Given the description of an element on the screen output the (x, y) to click on. 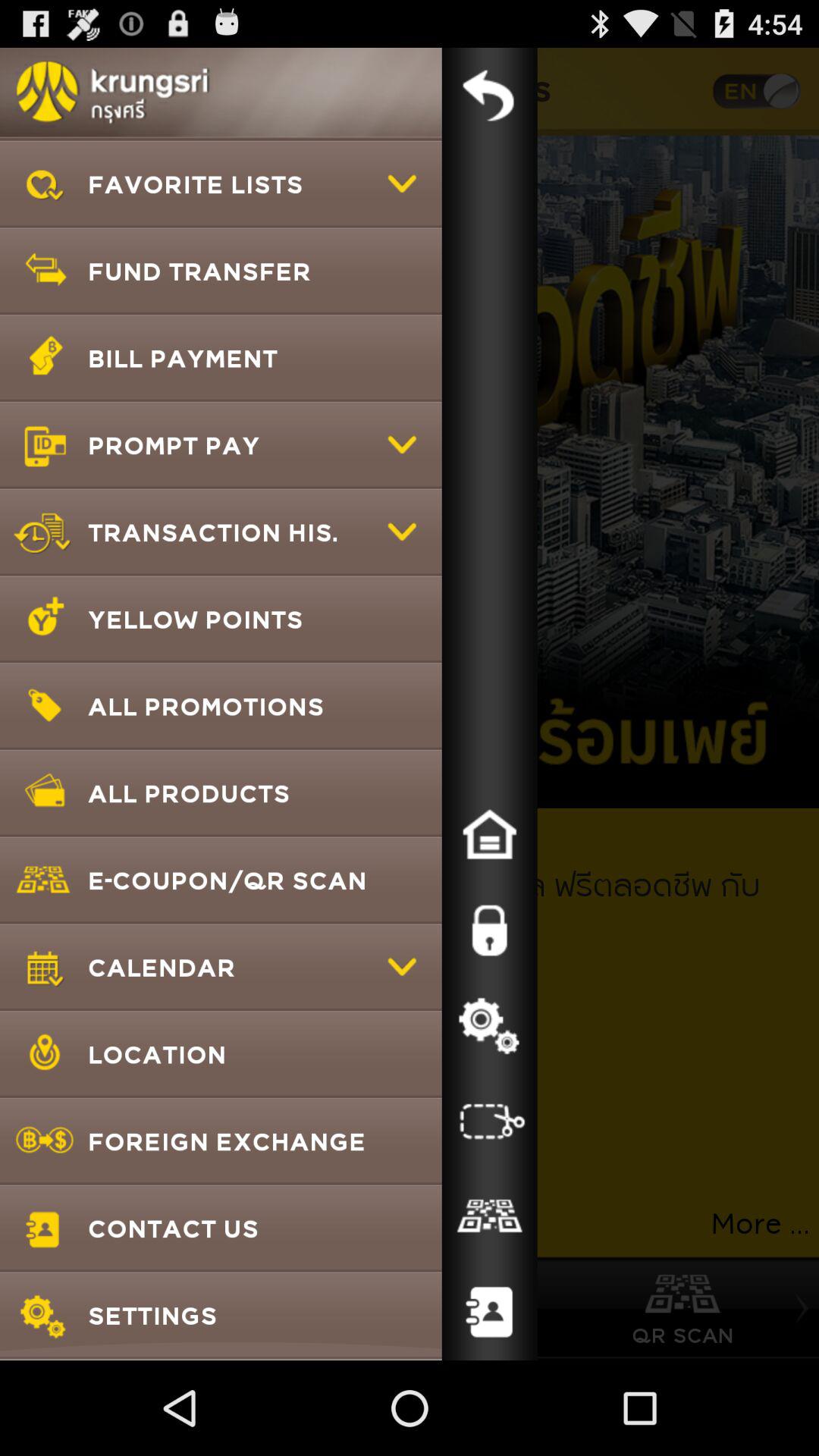
lock and safety (489, 930)
